Given the description of an element on the screen output the (x, y) to click on. 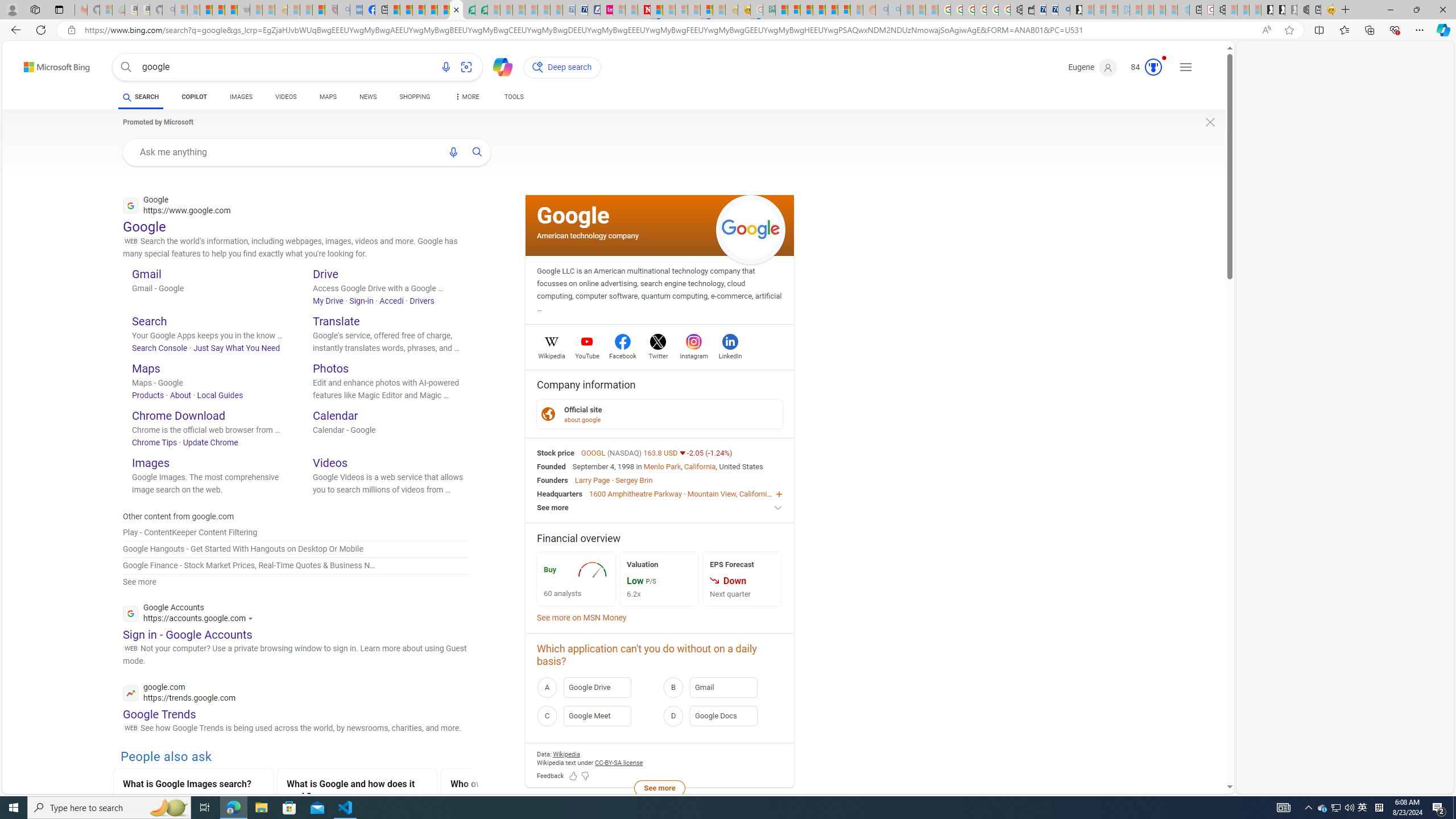
Feedback Like (573, 775)
Chrome Download (178, 415)
Play - ContentKeeper Content Filtering (295, 532)
Drivers (421, 300)
California (700, 465)
Sergey Brin (633, 479)
Buy 60 analysts (576, 579)
Menlo Park (662, 465)
